Given the description of an element on the screen output the (x, y) to click on. 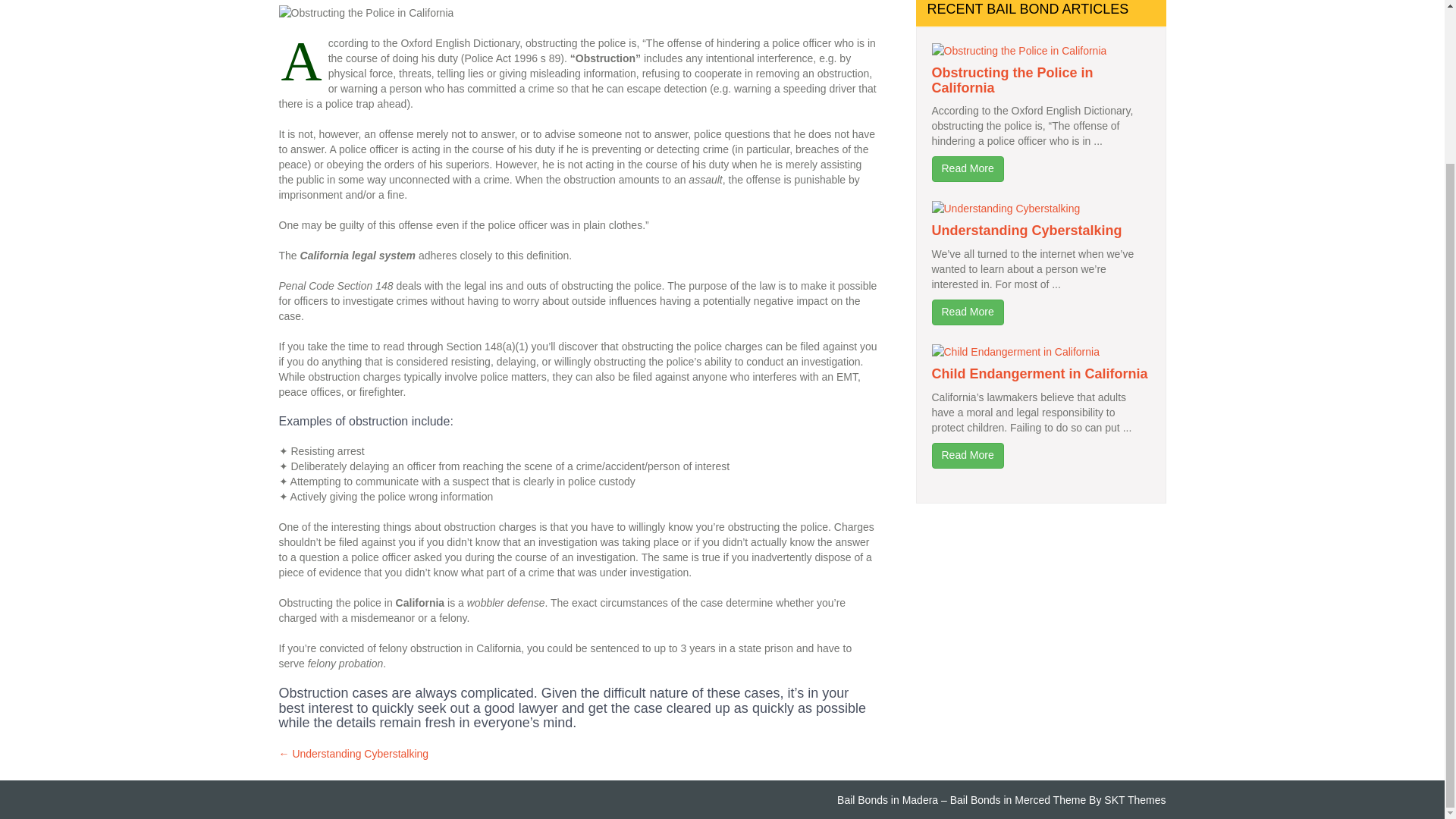
Read More (967, 455)
Child Endangerment in California (1039, 373)
Read More (967, 312)
Obstructing the Police in California (1012, 80)
Read More (967, 168)
Understanding Cyberstalking (1026, 230)
